Given the description of an element on the screen output the (x, y) to click on. 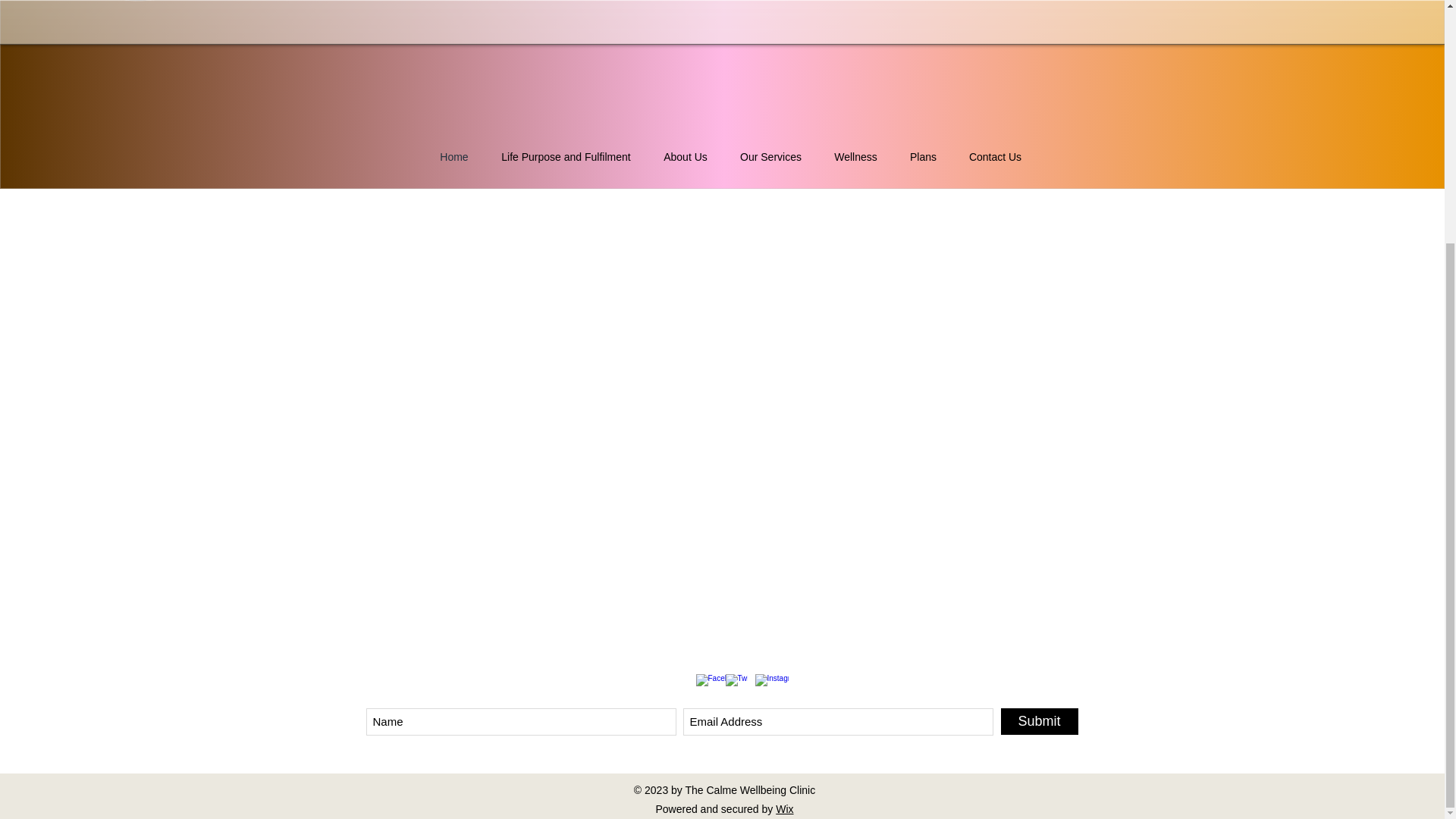
Wix (784, 808)
Contact Us (994, 157)
Life Purpose and Fulfilment (565, 157)
Our Services (769, 157)
About Us (685, 157)
Plans (922, 157)
Home (453, 157)
Submit (1039, 721)
Wellness (854, 157)
